Given the description of an element on the screen output the (x, y) to click on. 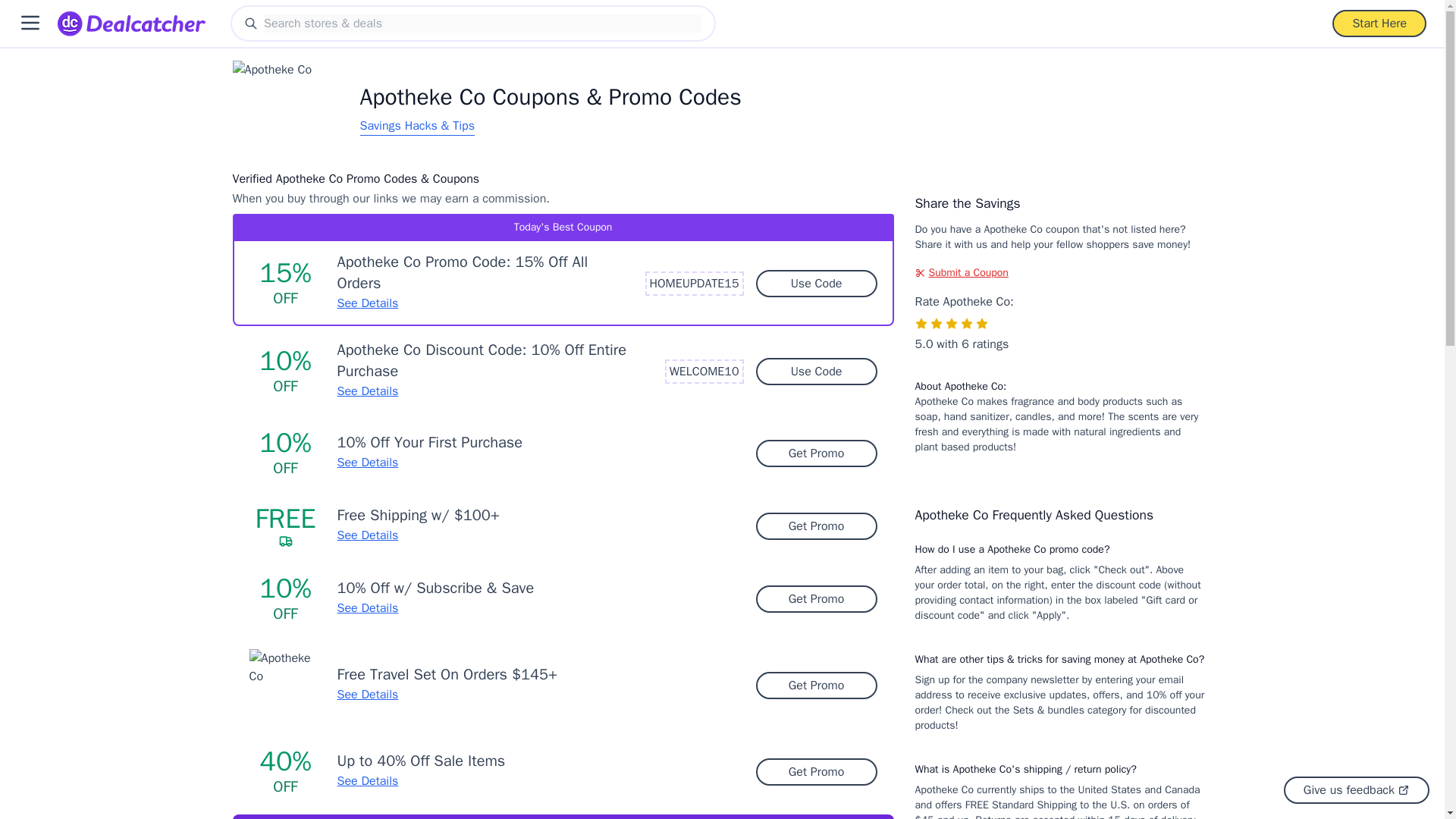
Start Here (1379, 22)
Main Navigation Toggler (29, 23)
